Given the description of an element on the screen output the (x, y) to click on. 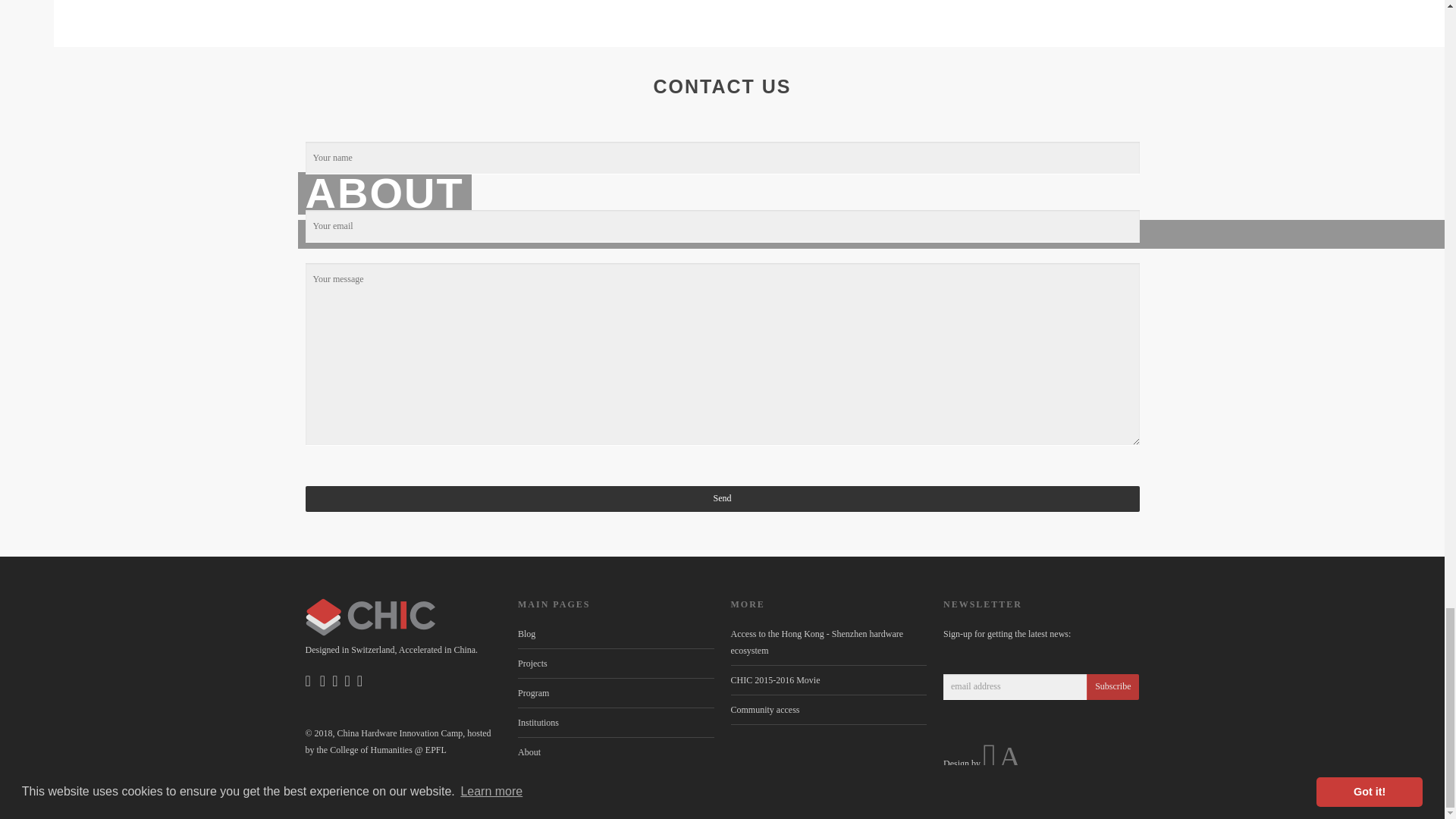
Program (533, 692)
Send (721, 498)
Blog (526, 633)
Send (721, 498)
Subscribe (1112, 687)
Institutions (538, 722)
Access to the Hong Kong - Shenzhen hardware ecosystem (817, 642)
Projects (532, 663)
About (529, 751)
